Given the description of an element on the screen output the (x, y) to click on. 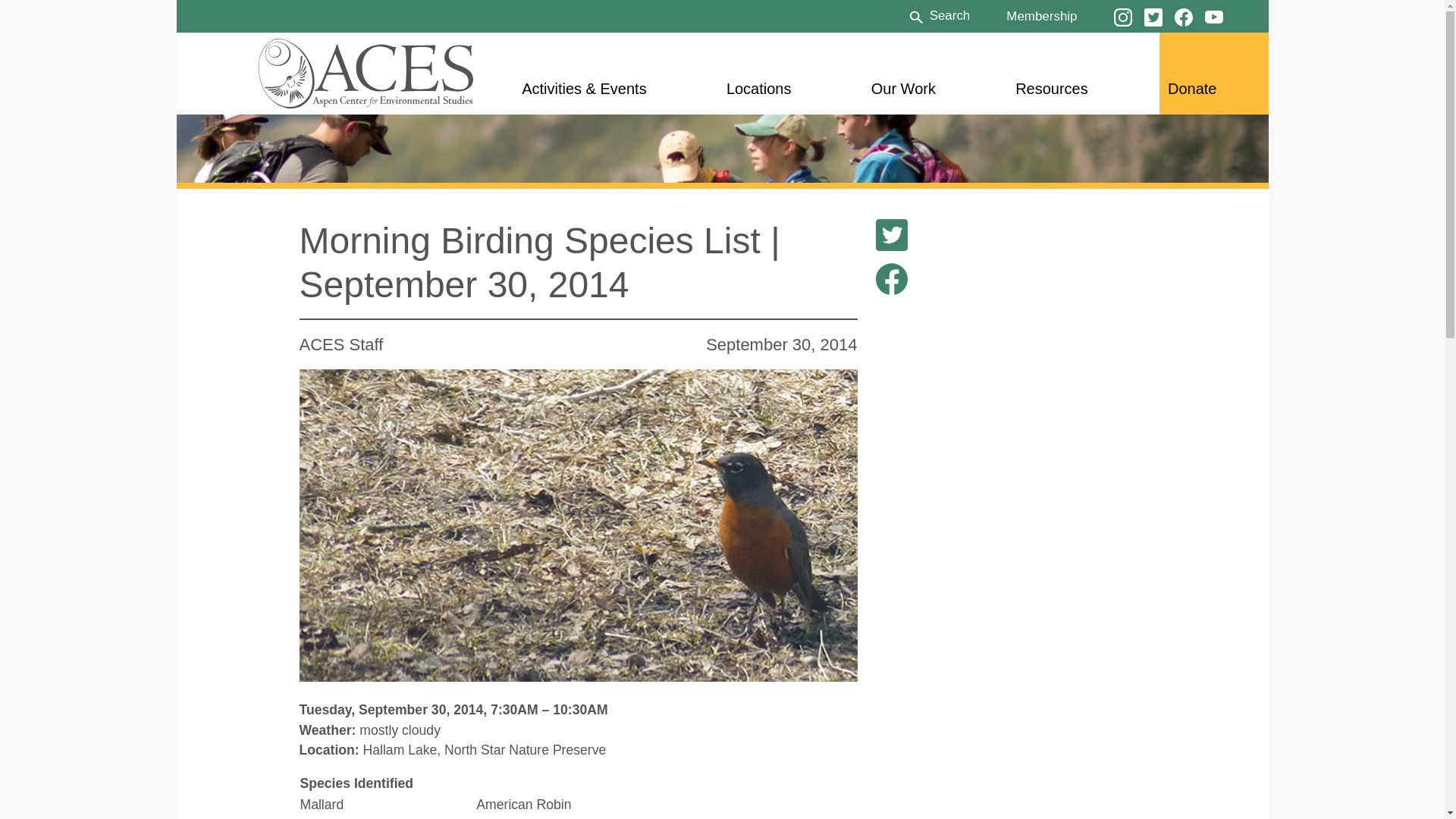
Membership (1041, 15)
Resources (1050, 88)
Search (938, 15)
Locations (759, 88)
Our Work (903, 88)
